Given the description of an element on the screen output the (x, y) to click on. 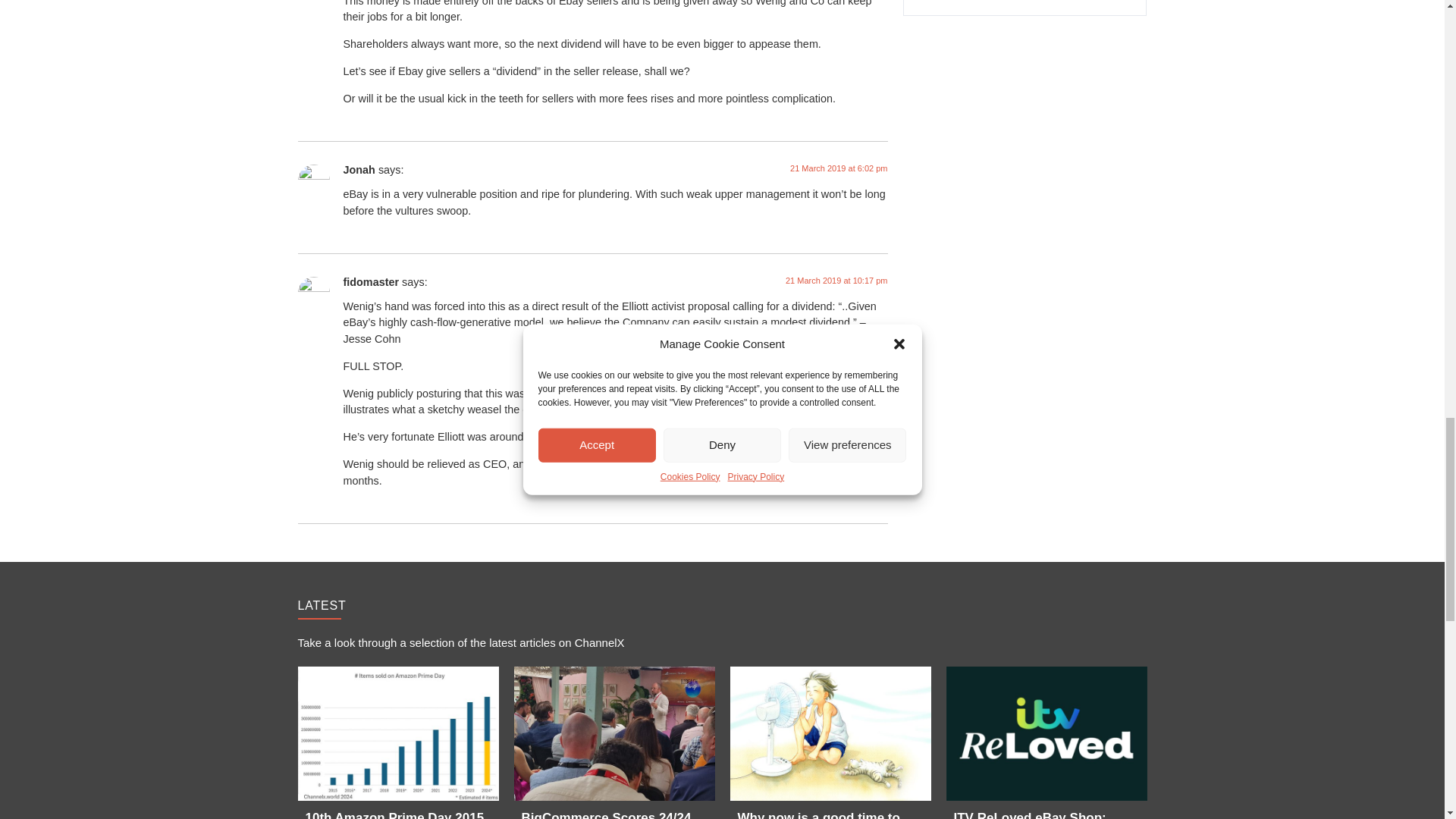
BigCommerce Scores 24 out of 24 Medals in 2024 Paradigm B2B (613, 733)
ITV ReLoved eBay Shop: Bringing Iconic TV Props to Your Home (1046, 733)
Why now is a good time to buy items to keep cool this summer (829, 733)
